Given the description of an element on the screen output the (x, y) to click on. 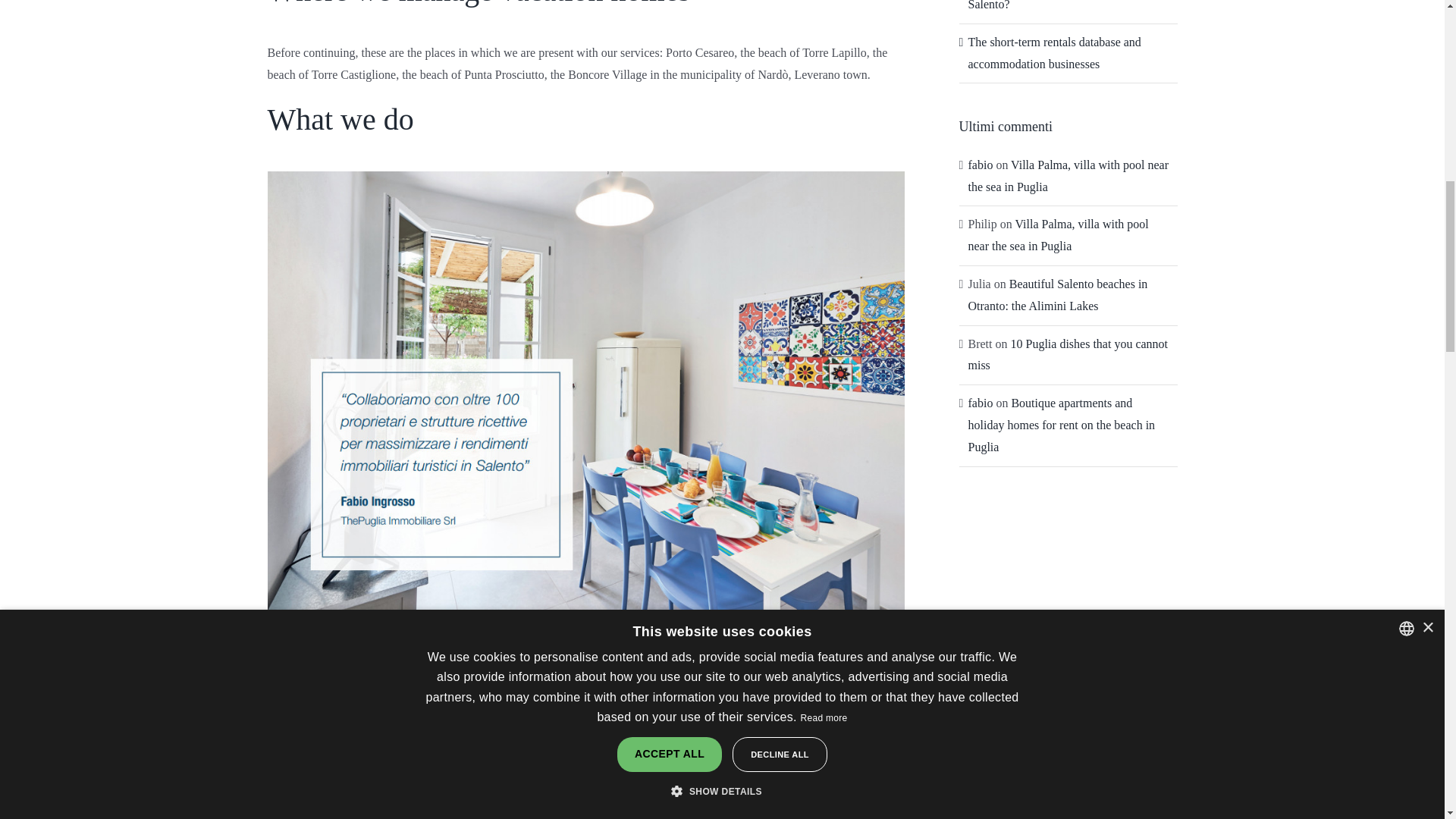
Torre Lapillo beach, the most beautiful in Salento? (1068, 5)
fabio (980, 164)
Villa Palma, villa with pool near the sea in Puglia (1067, 175)
Villa Palma, villa with pool near the sea in Puglia (1058, 234)
The short-term rentals database and accommodation businesses (1054, 53)
10 Puglia dishes that you cannot miss (1067, 354)
Beautiful Salento beaches in Otranto: the Alimini Lakes (1057, 294)
fabio (980, 402)
